Given the description of an element on the screen output the (x, y) to click on. 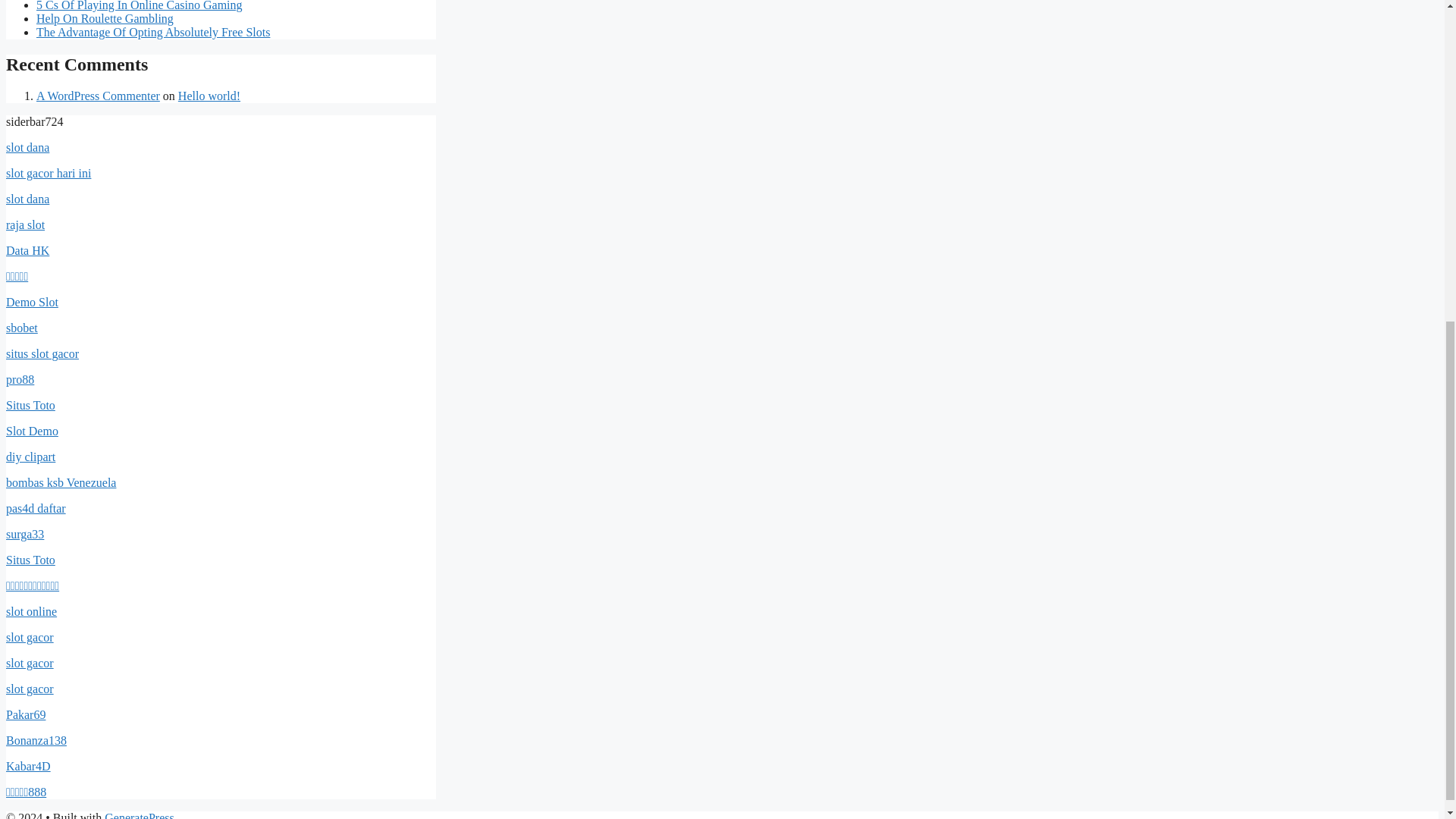
slot dana (27, 198)
slot gacor (29, 662)
slot dana (27, 146)
raja slot (25, 224)
Demo Slot (31, 301)
Slot Demo (31, 431)
A WordPress Commenter (98, 95)
slot online (30, 611)
pro88 (19, 379)
Help On Roulette Gambling (104, 18)
sbobet (21, 327)
bombas ksb Venezuela (60, 481)
Situs Toto (30, 404)
slot gacor (29, 636)
5 Cs Of Playing In Online Casino Gaming (139, 5)
